Given the description of an element on the screen output the (x, y) to click on. 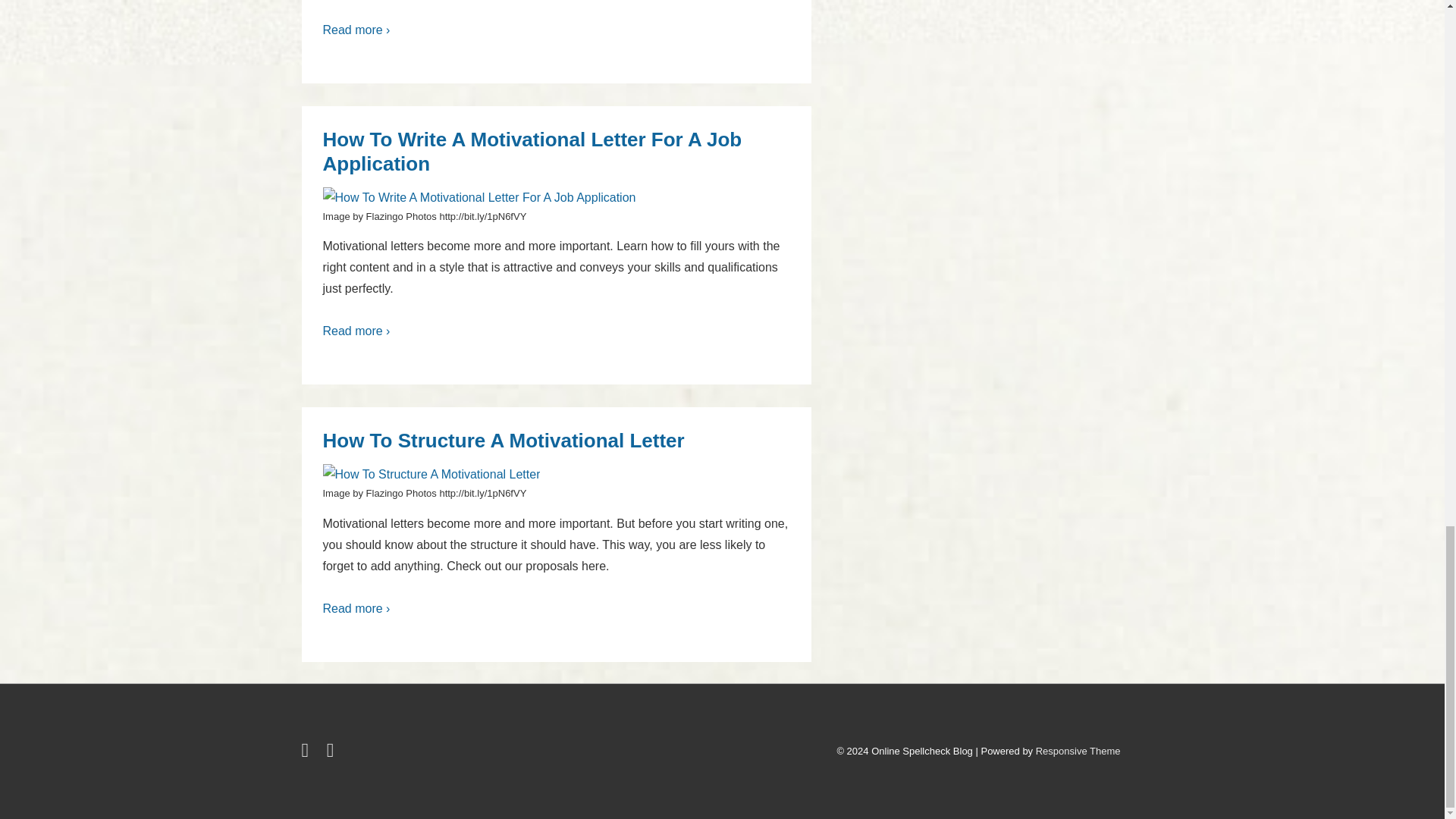
How To Write A Motivational Letter For A Job Application (532, 151)
How To Structure A Motivational Letter (503, 440)
twitter (308, 753)
facebook (331, 753)
